Given the description of an element on the screen output the (x, y) to click on. 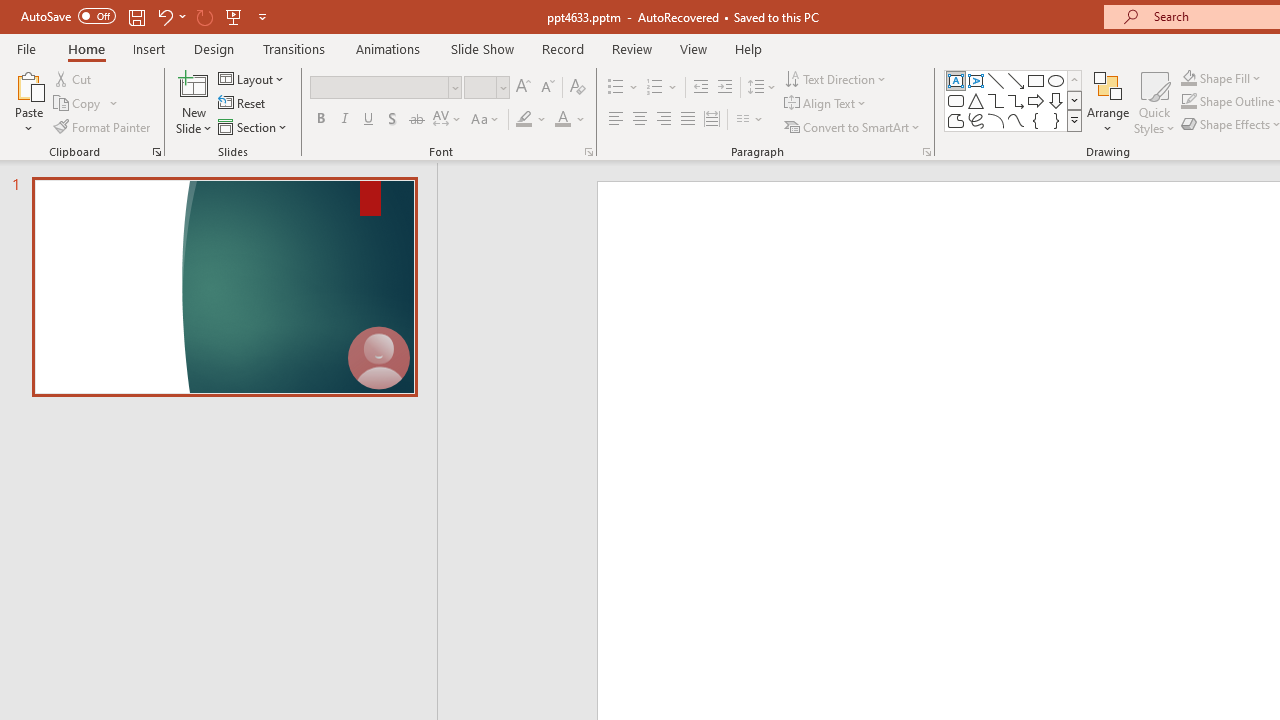
Shape Fill Orange, Accent 2 (1188, 78)
